Given the description of an element on the screen output the (x, y) to click on. 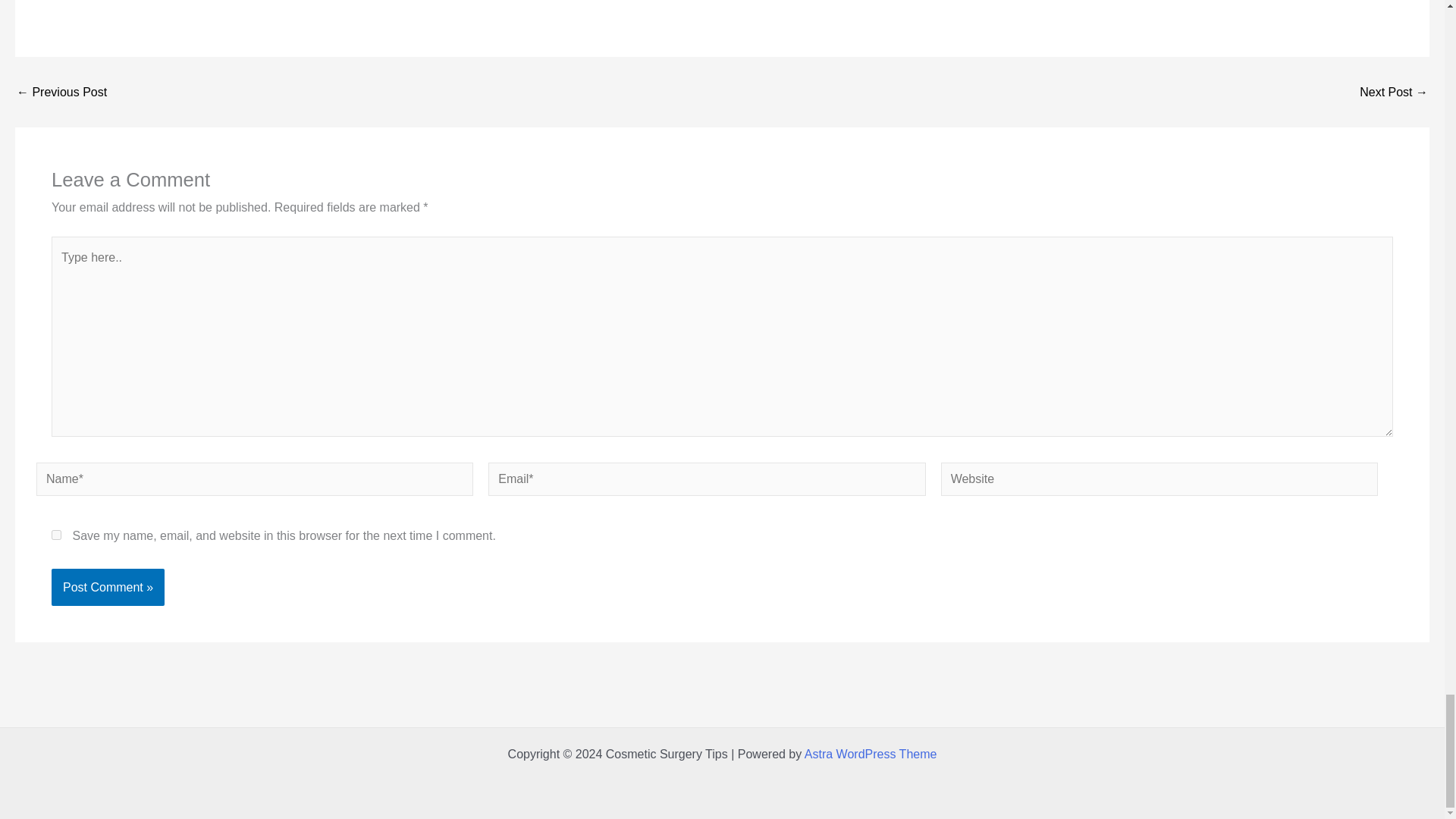
Extended Tummy Tuck Vs Regular Tummy Tuck (1393, 92)
Astra WordPress Theme (871, 753)
Endoscopic Assisted Modified Tummy Tuck (61, 92)
yes (55, 534)
